Given the description of an element on the screen output the (x, y) to click on. 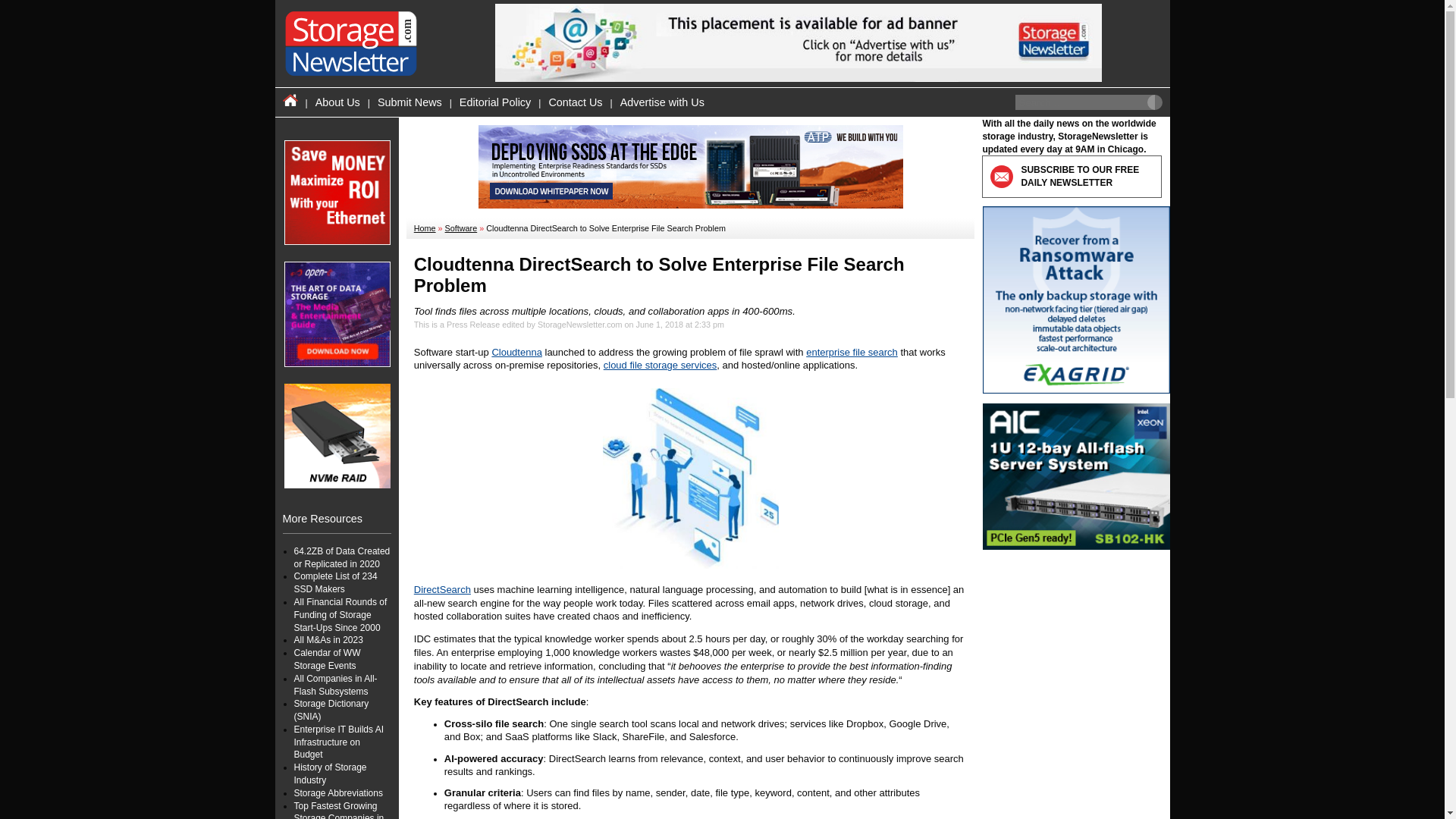
Contact Us (575, 102)
91-ssd-manufacturers-in-the-world-document (335, 582)
Advertise with Us (662, 102)
Complete List of 234 SSD Makers (335, 582)
enterprise-it-builds-ai-infrastructure-on-budget (339, 741)
64-2zb-of-data-created-or-replicated-in-2020 (342, 557)
dictionary-snia (331, 709)
Calendar of WW Storage Events (327, 658)
All Companies in All-Flash Subsystems (335, 684)
About Us (337, 102)
